Given the description of an element on the screen output the (x, y) to click on. 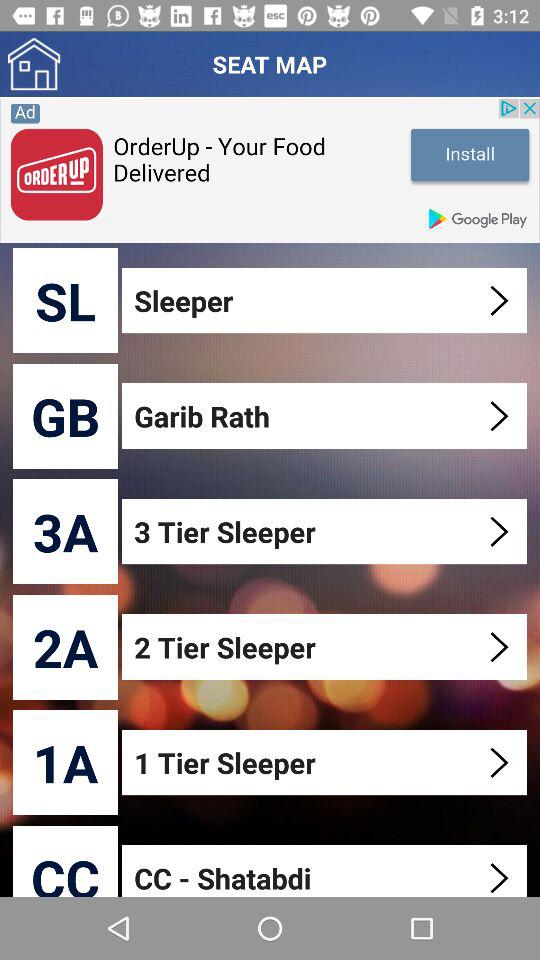
select the garib rath (326, 415)
